Given the description of an element on the screen output the (x, y) to click on. 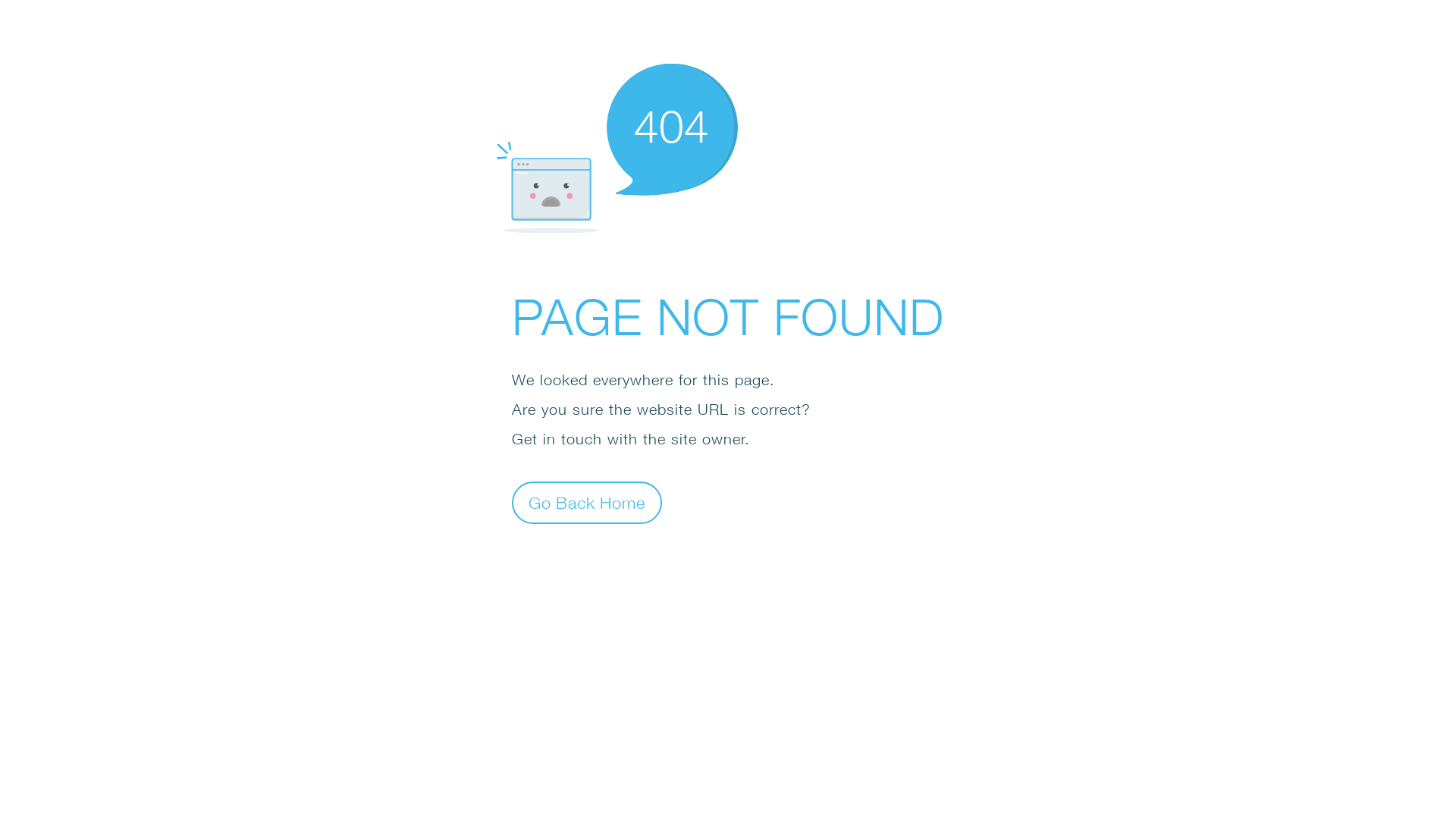
Go Back Home Element type: text (586, 502)
